Given the description of an element on the screen output the (x, y) to click on. 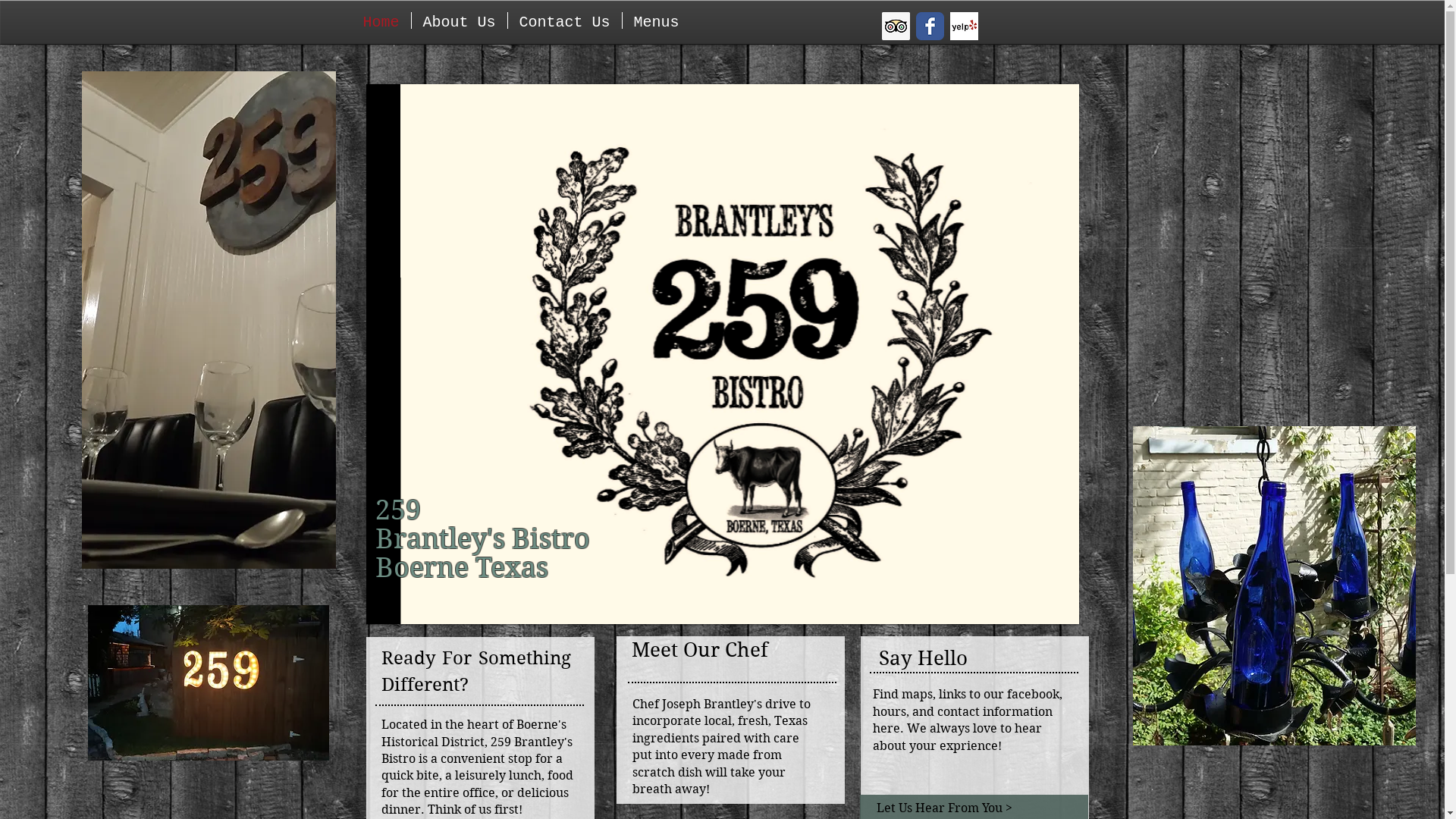
Contact Us Element type: text (564, 20)
259 Brantley's Bistro Boerne Texas Element type: hover (208, 682)
Menus Element type: text (655, 20)
259 Brantley's Bistro Boerne Texas Element type: hover (208, 319)
Home Element type: text (381, 20)
About Us Element type: text (458, 20)
Bottles 3.jpg Element type: hover (1273, 585)
